Given the description of an element on the screen output the (x, y) to click on. 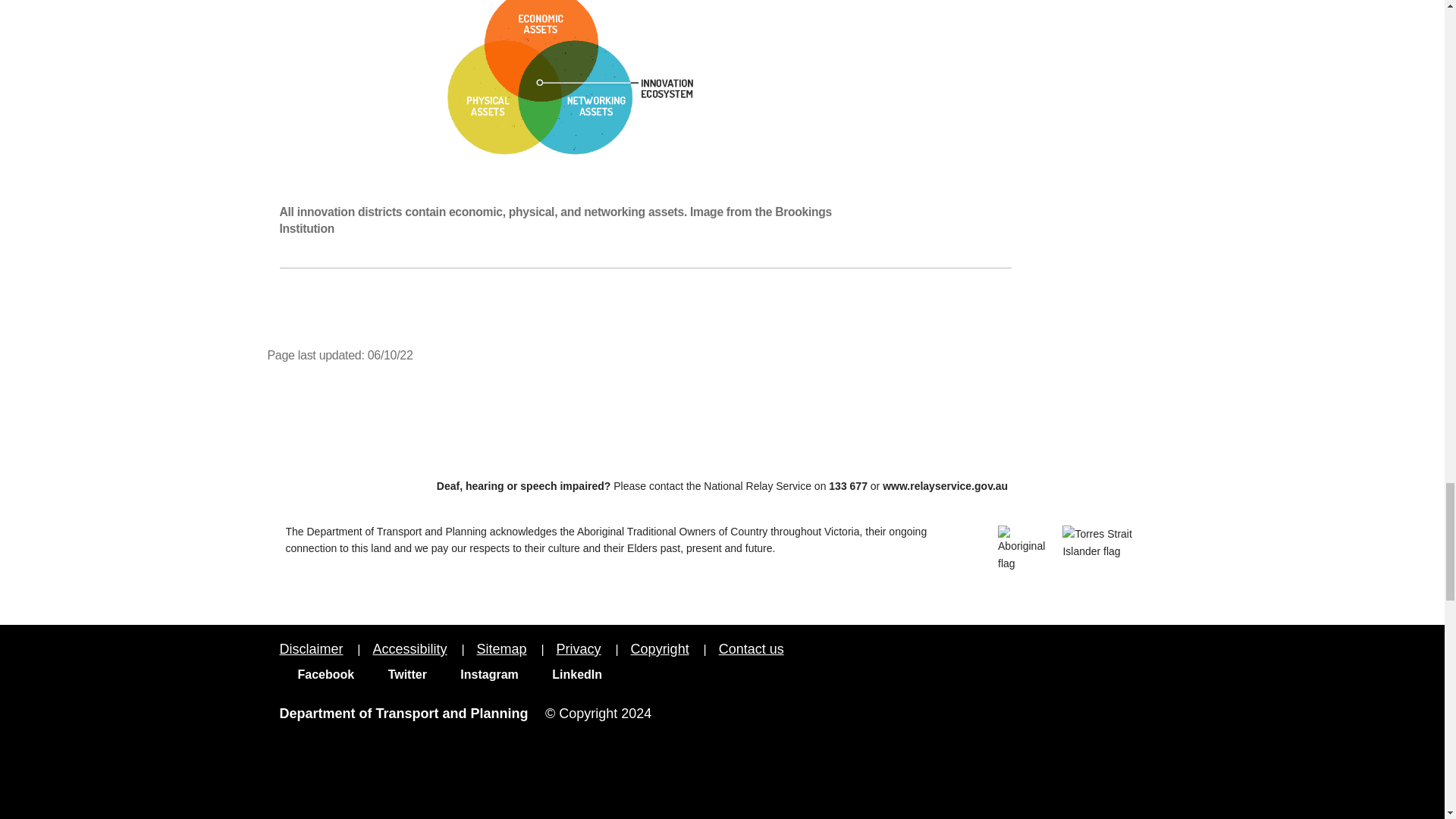
Twitter (397, 674)
vic.gov.au (1126, 662)
LinkedIn (568, 674)
Instagram (480, 674)
Facebook (316, 674)
